Given the description of an element on the screen output the (x, y) to click on. 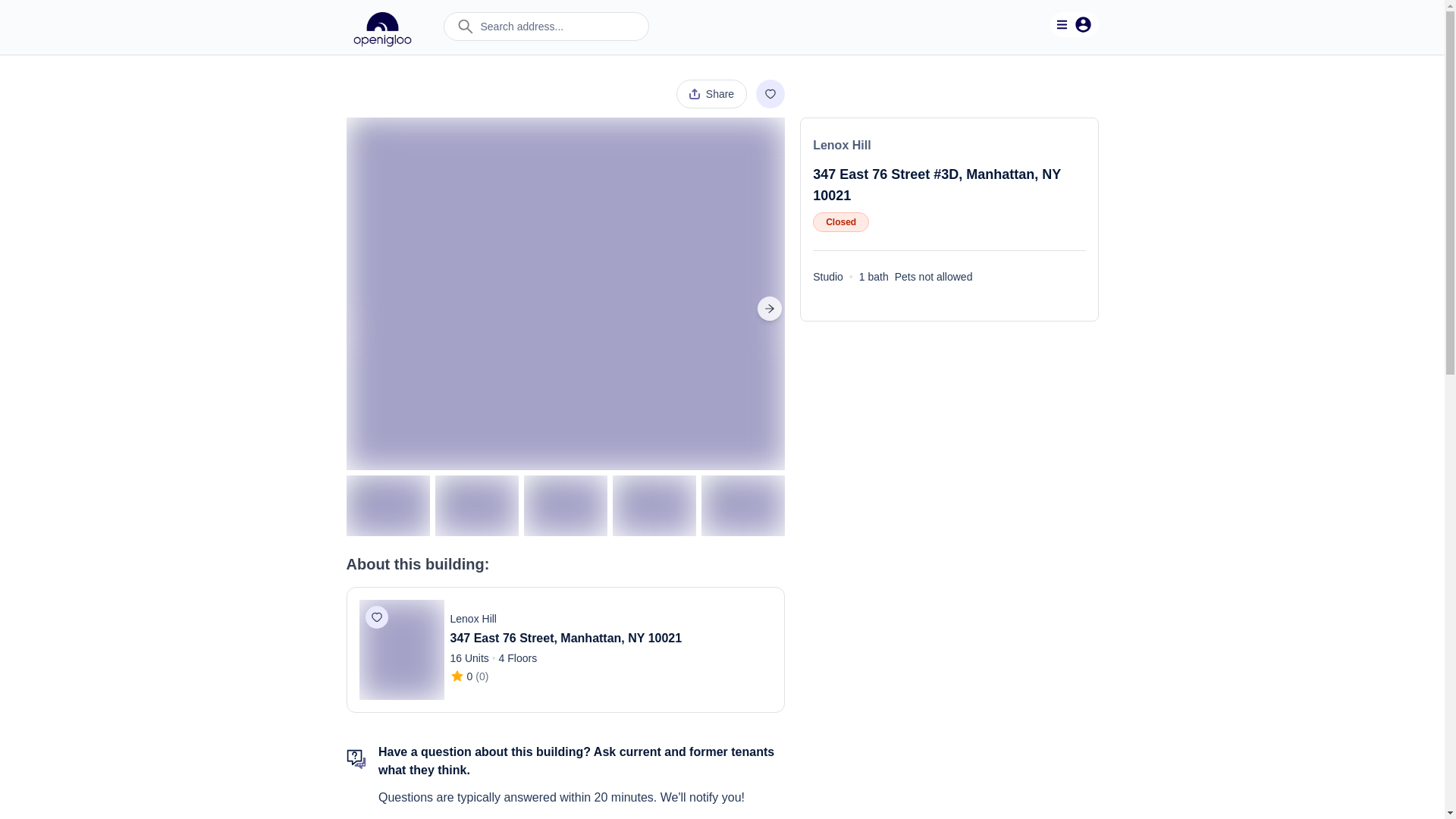
Save to your profile (376, 617)
Lenox Hill (841, 144)
Save to your profile (769, 93)
